Given the description of an element on the screen output the (x, y) to click on. 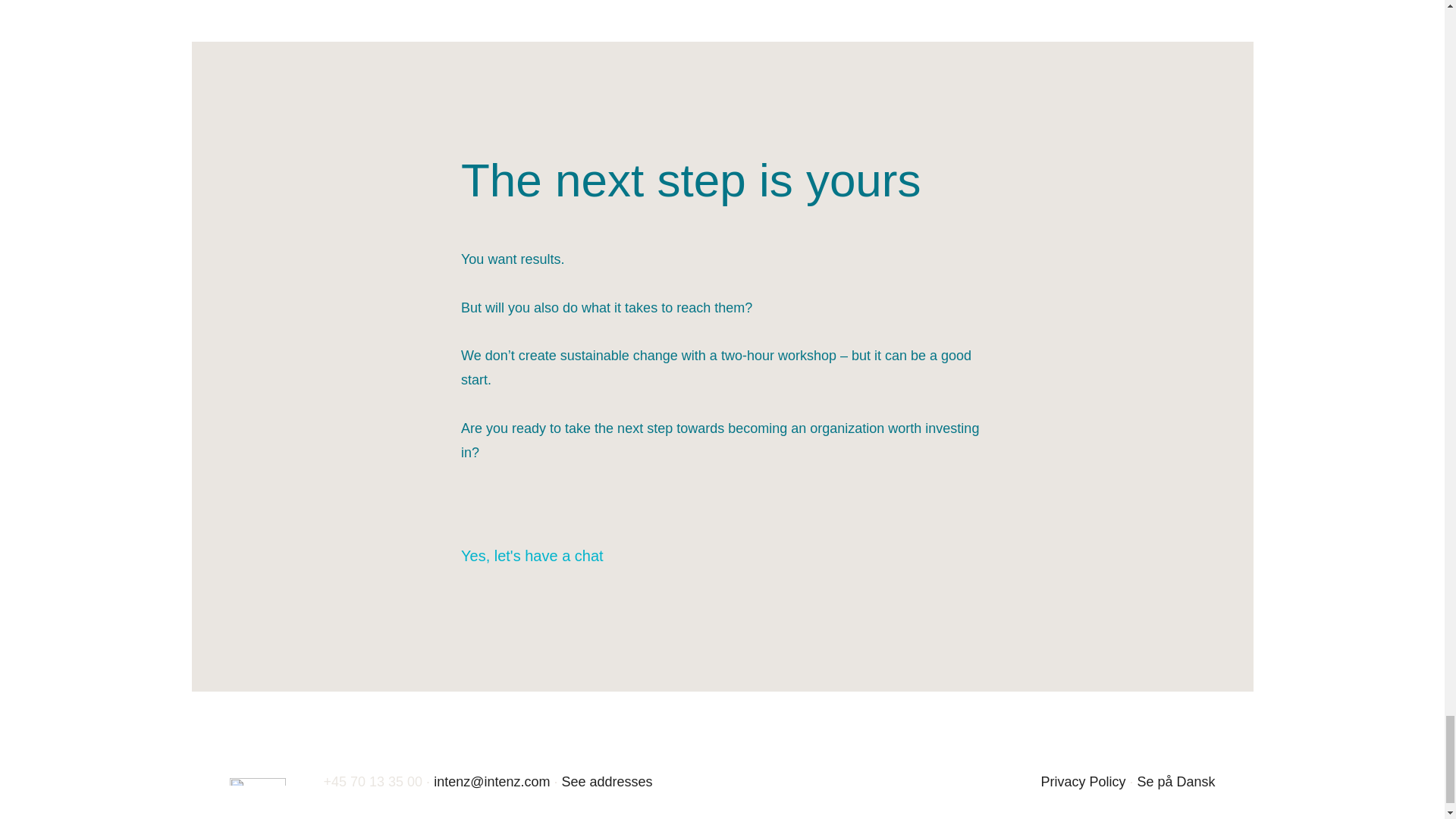
Yes, let's have a chat (546, 555)
Privacy Policy (1083, 781)
See addresses (606, 781)
